Given the description of an element on the screen output the (x, y) to click on. 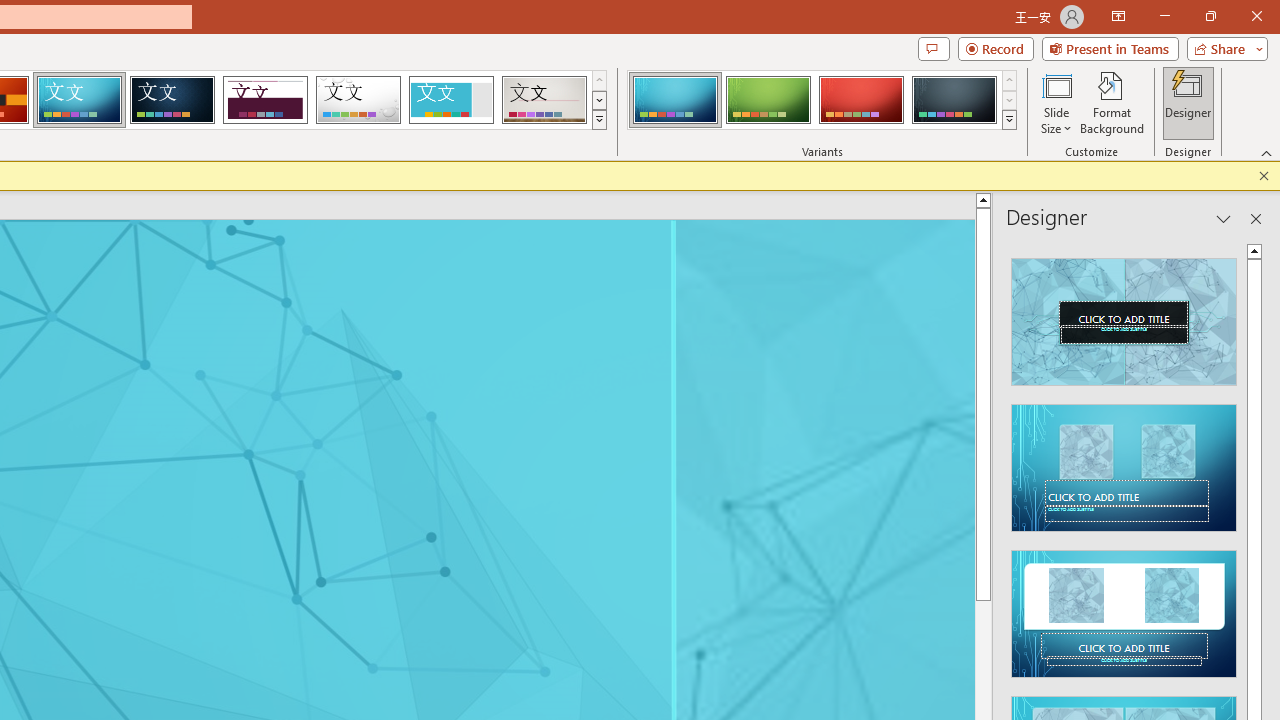
Dividend (265, 100)
Damask (171, 100)
Droplet (358, 100)
Circuit Variant 1 (674, 100)
Variants (1009, 120)
Slide Size (1056, 102)
Circuit Variant 3 (861, 100)
Themes (598, 120)
Format Background (1111, 102)
